Given the description of an element on the screen output the (x, y) to click on. 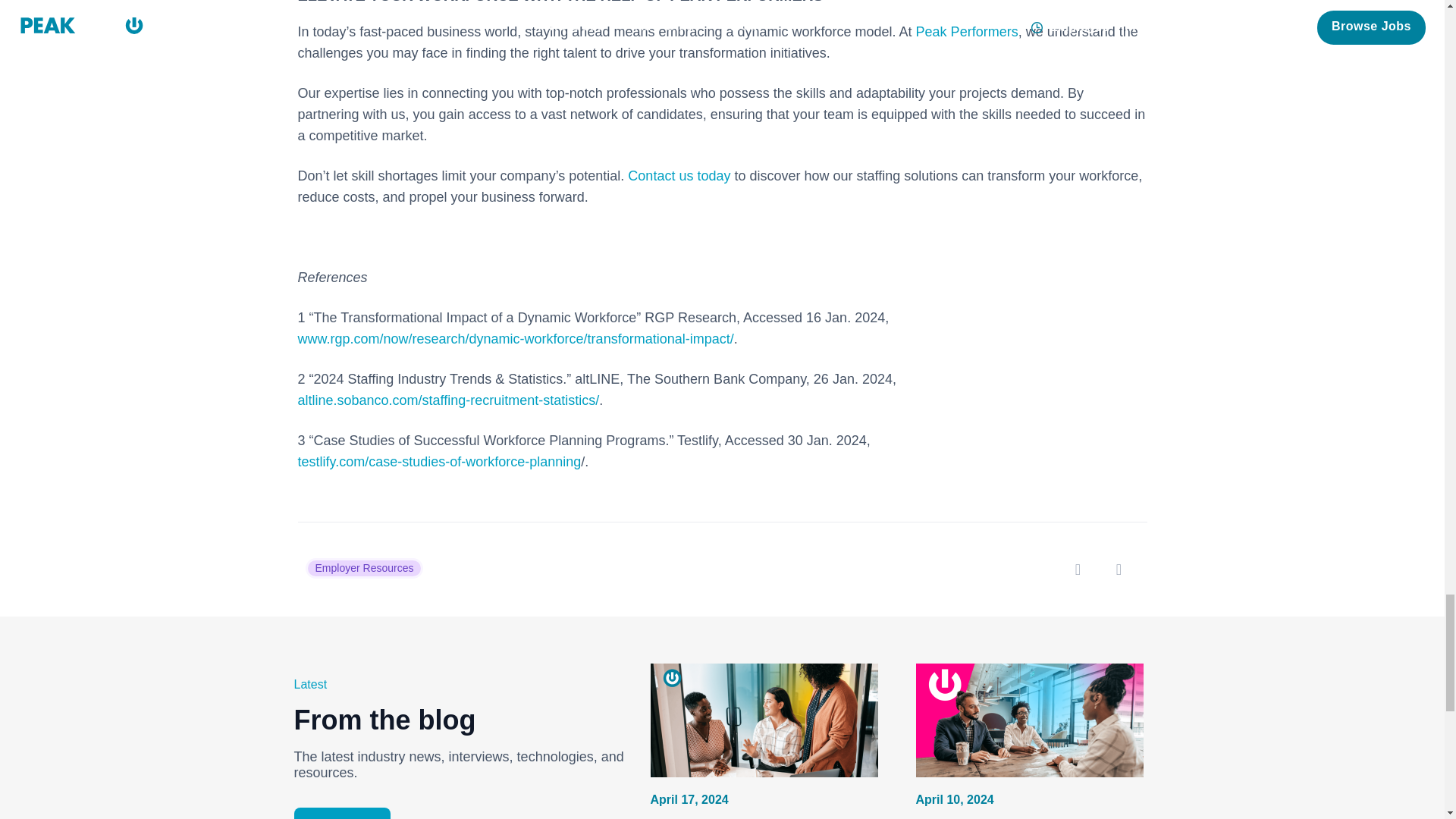
Employer Resources (364, 567)
Peak Performers (966, 31)
April 10, 2024 (954, 799)
Contact us today (678, 175)
April 17, 2024 (689, 799)
View all posts (342, 813)
